Given the description of an element on the screen output the (x, y) to click on. 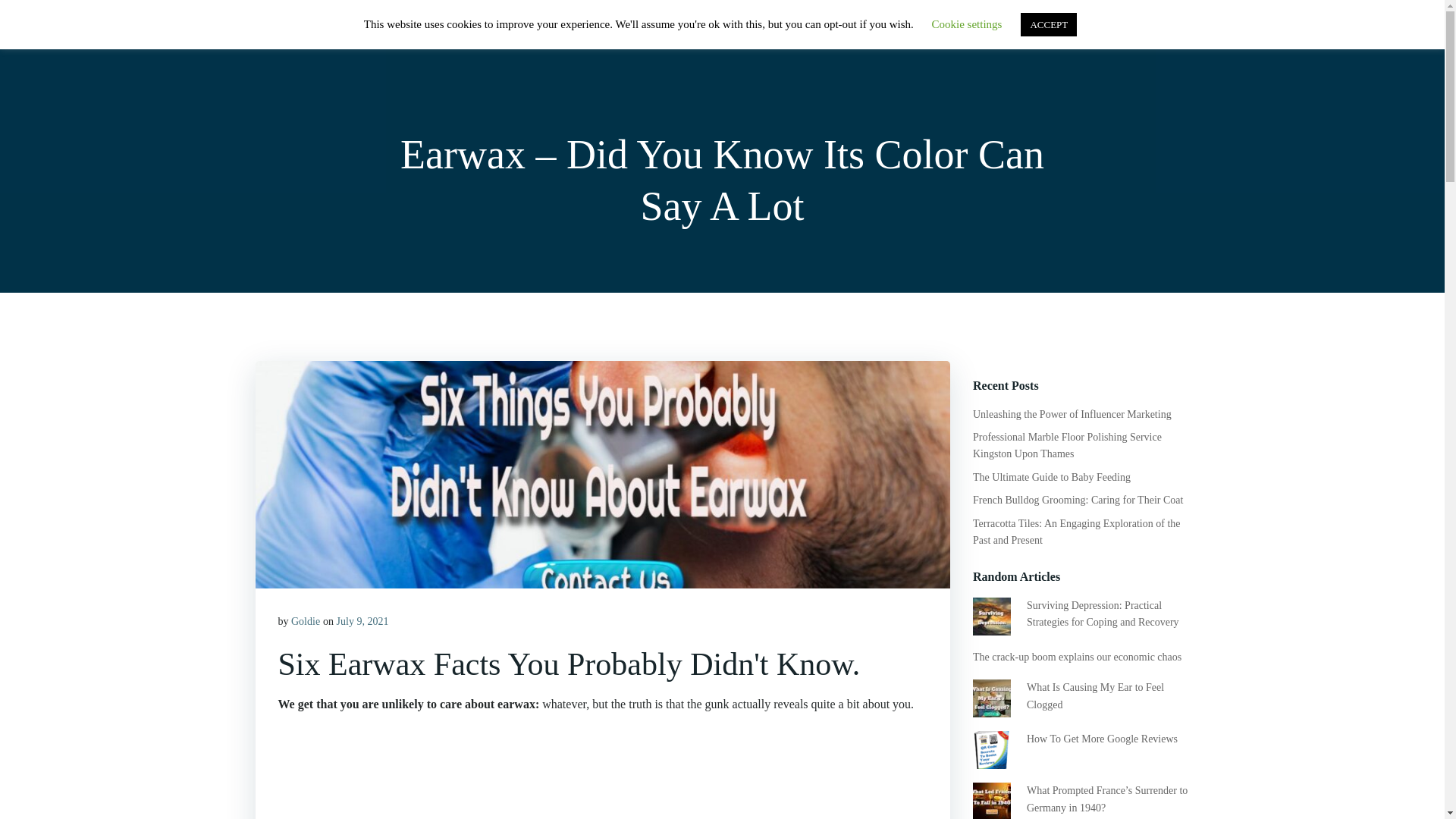
French Bulldog Grooming: Caring for Their Coat (1077, 500)
July 9, 2021 (362, 621)
Silk JS (279, 33)
Goldie (305, 621)
What Is Causing My Ear to Feel Clogged (1094, 695)
LOGIN (1088, 33)
How To Get More Google Reviews (1101, 738)
The Ultimate Guide to Baby Feeding (1051, 477)
